Given the description of an element on the screen output the (x, y) to click on. 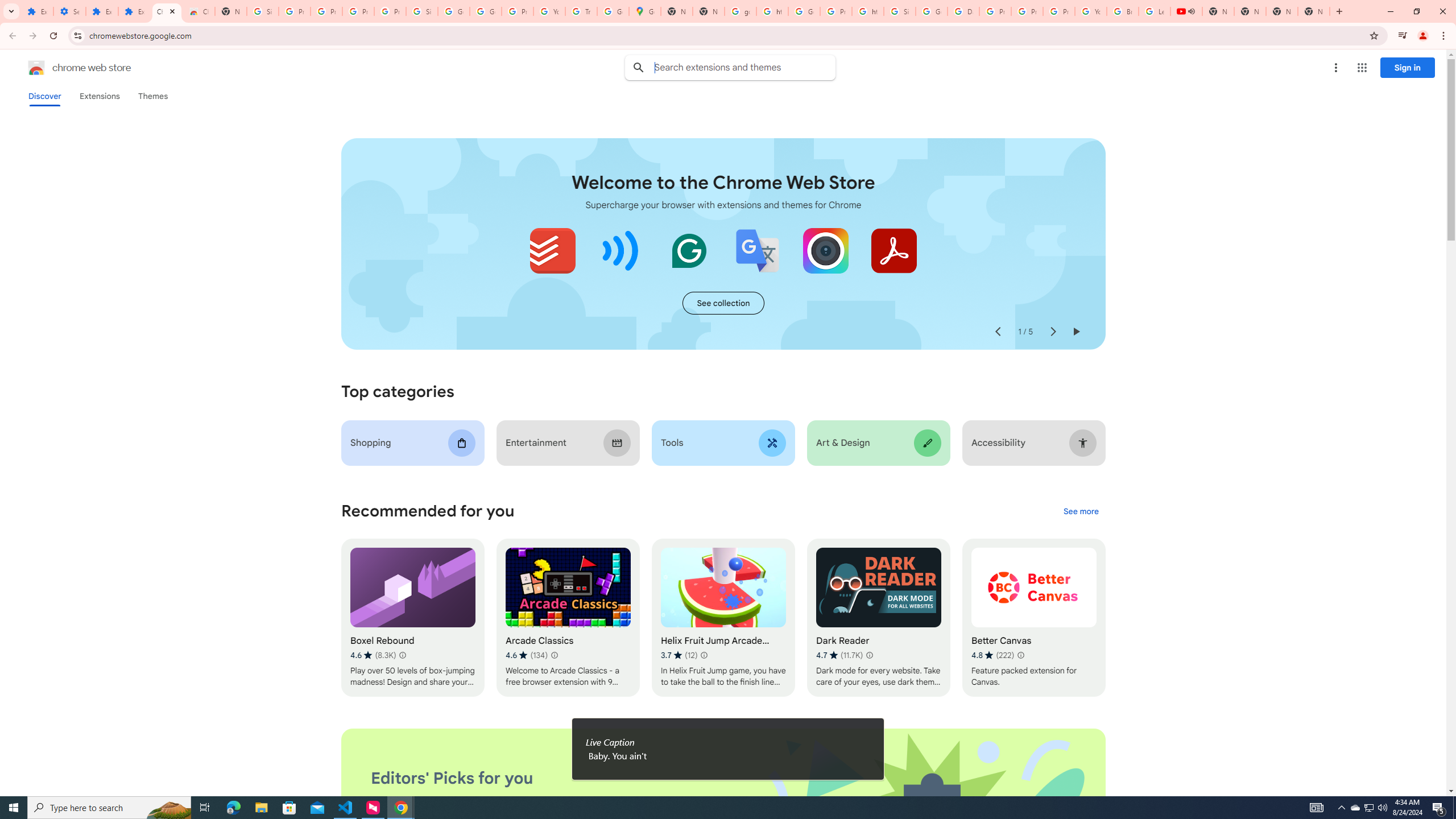
Shopping (412, 443)
